Given the description of an element on the screen output the (x, y) to click on. 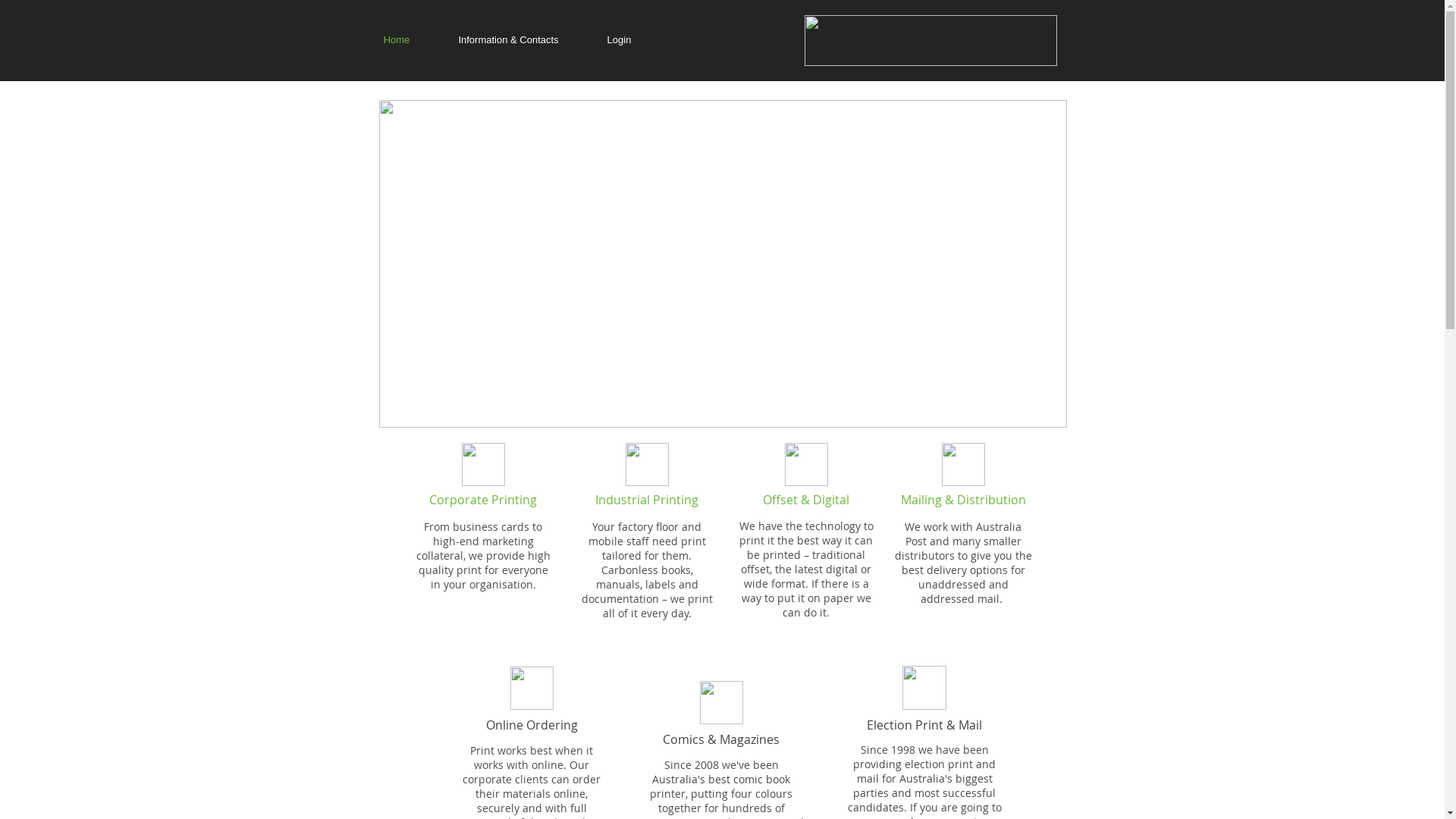
Login Element type: text (618, 40)
Home Element type: text (396, 40)
web-elements-47.png Element type: hover (805, 464)
web-elements-49.png Element type: hover (720, 702)
JPS-LOGO-2015-1.png Element type: hover (929, 40)
